Given the description of an element on the screen output the (x, y) to click on. 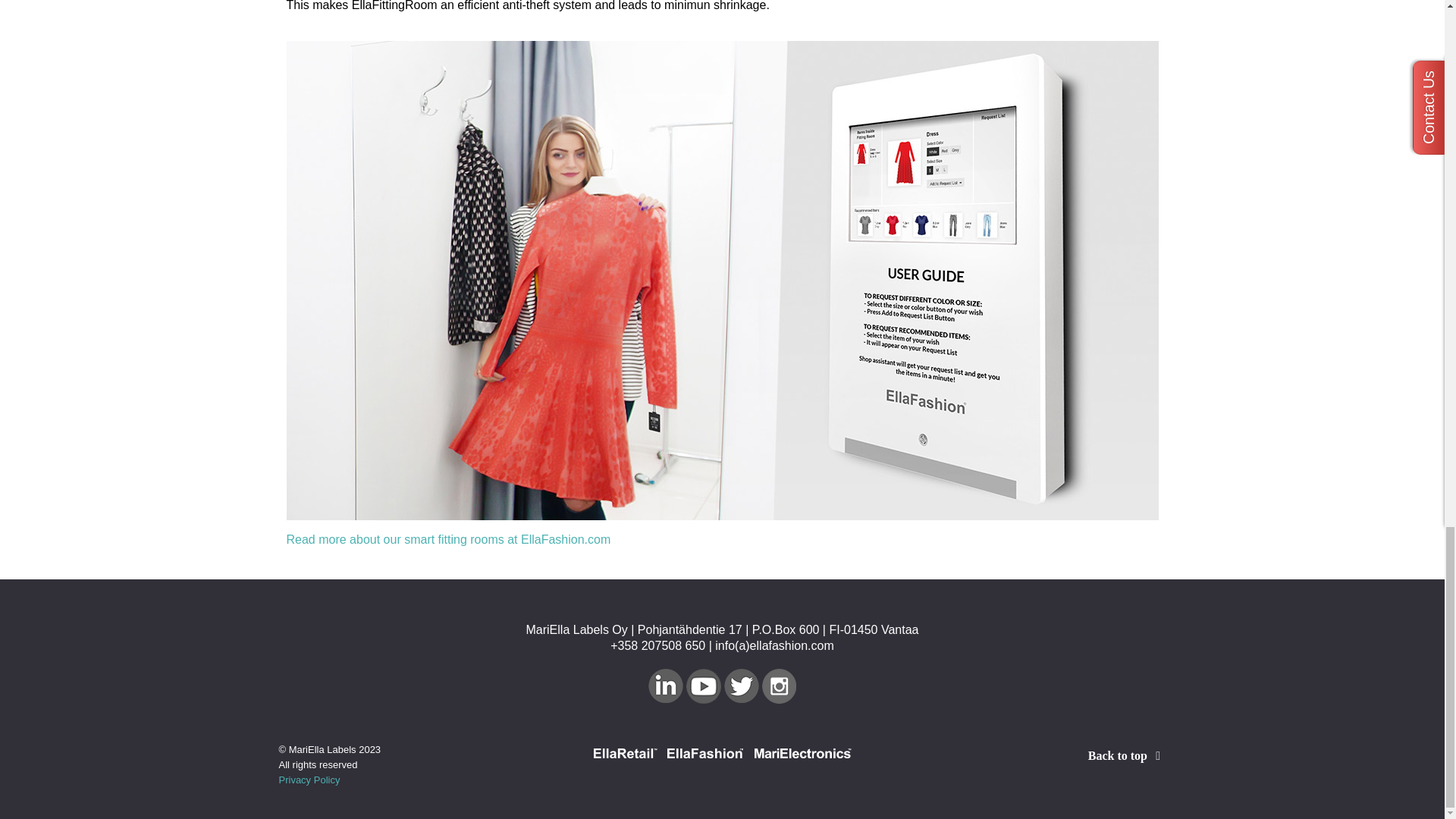
Read more about our smart fitting rooms at EllaFashion.com (448, 539)
Back to top (1126, 755)
Privacy Policy (309, 779)
